Given the description of an element on the screen output the (x, y) to click on. 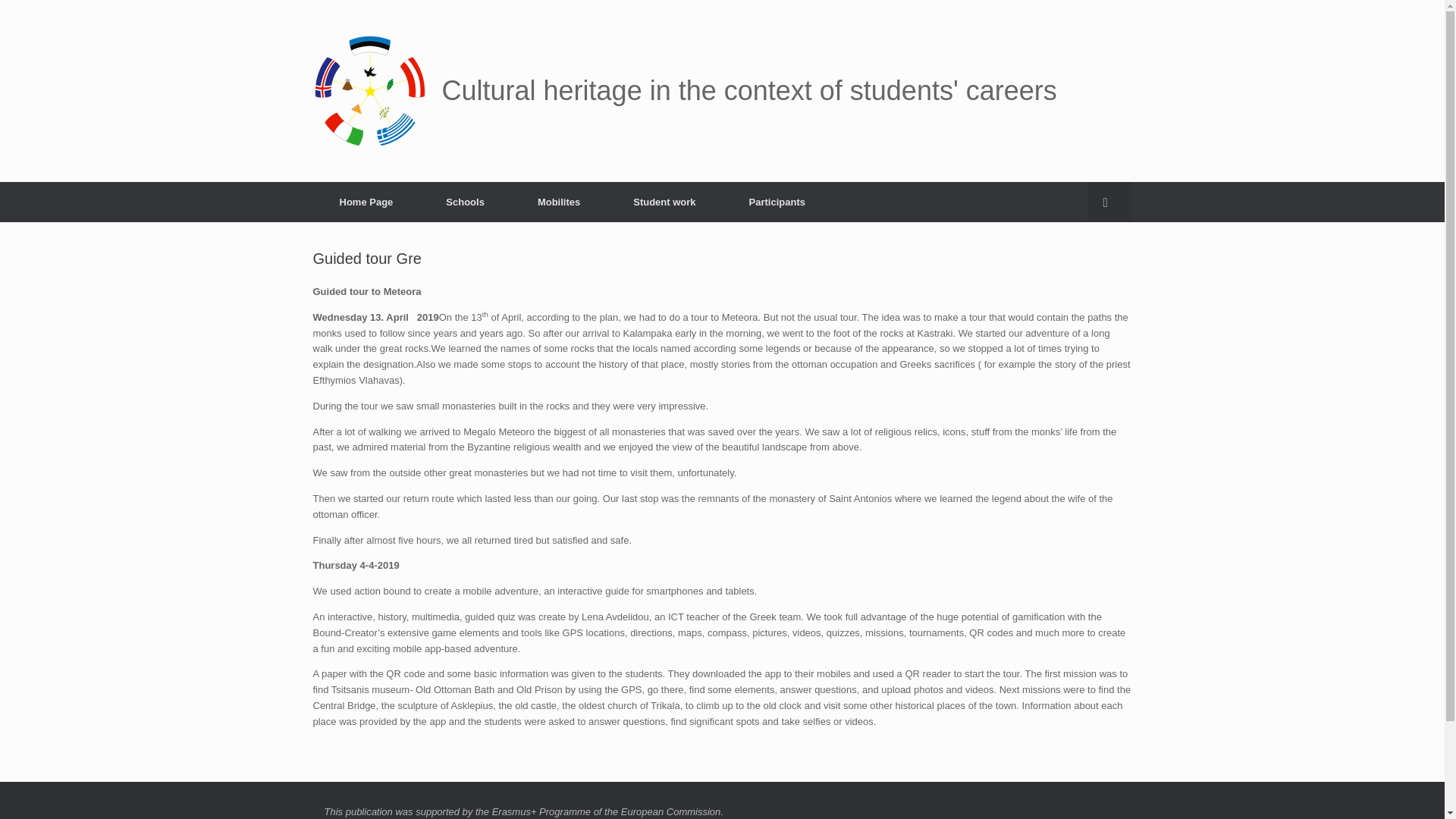
Mobilites (559, 201)
Schools (465, 201)
Home Page (366, 201)
Student work (664, 201)
Cultural heritage in the context of students' careers (685, 91)
Cultural heritage in the context of students' careers (685, 91)
